Given the description of an element on the screen output the (x, y) to click on. 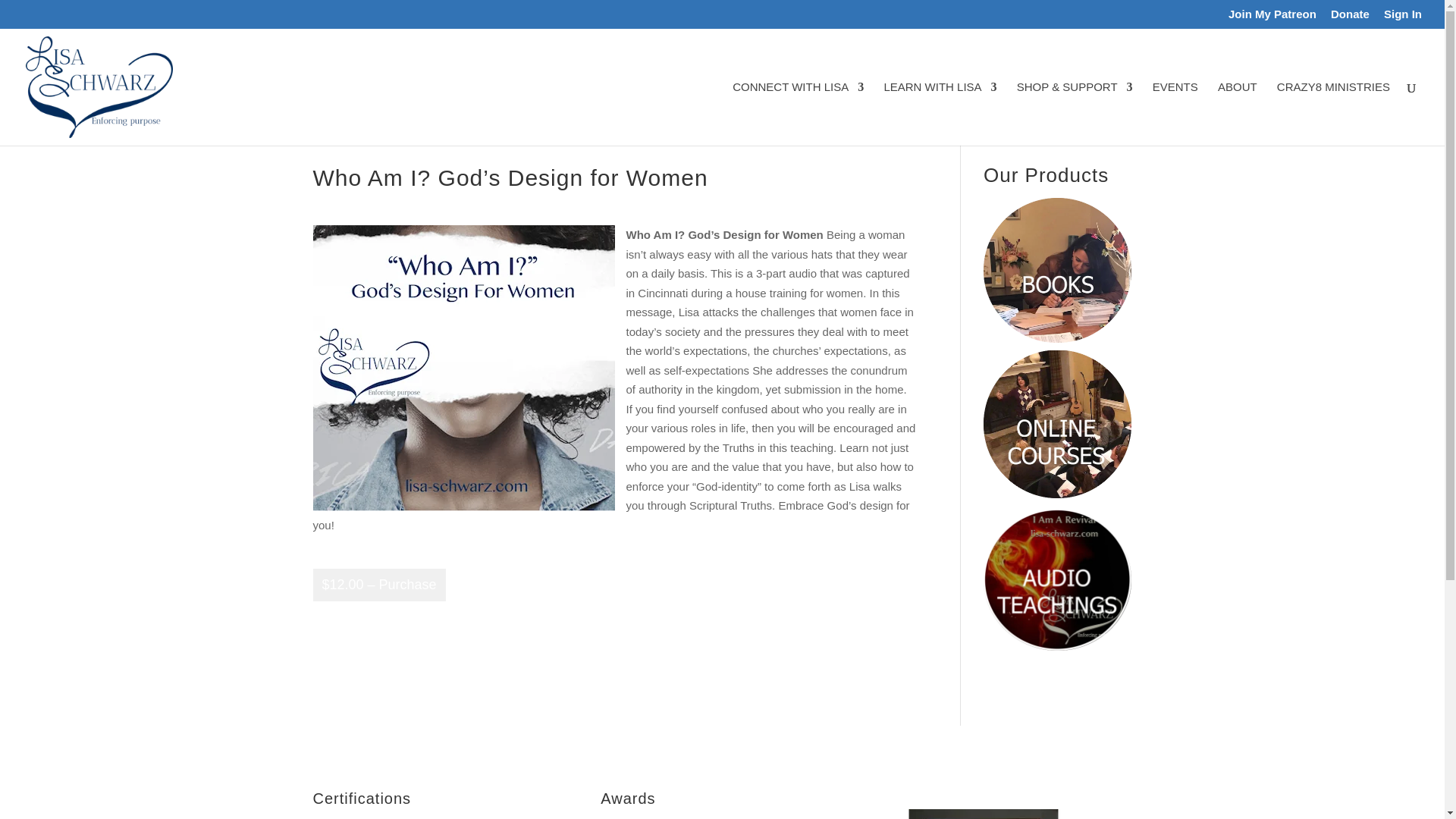
Sign In (1403, 17)
CONNECT WITH LISA (797, 113)
LEARN WITH LISA (939, 113)
character award copy (983, 814)
Join My Patreon (1272, 17)
Donate (1350, 17)
CRAZY8 MINISTRIES (1333, 113)
